Given the description of an element on the screen output the (x, y) to click on. 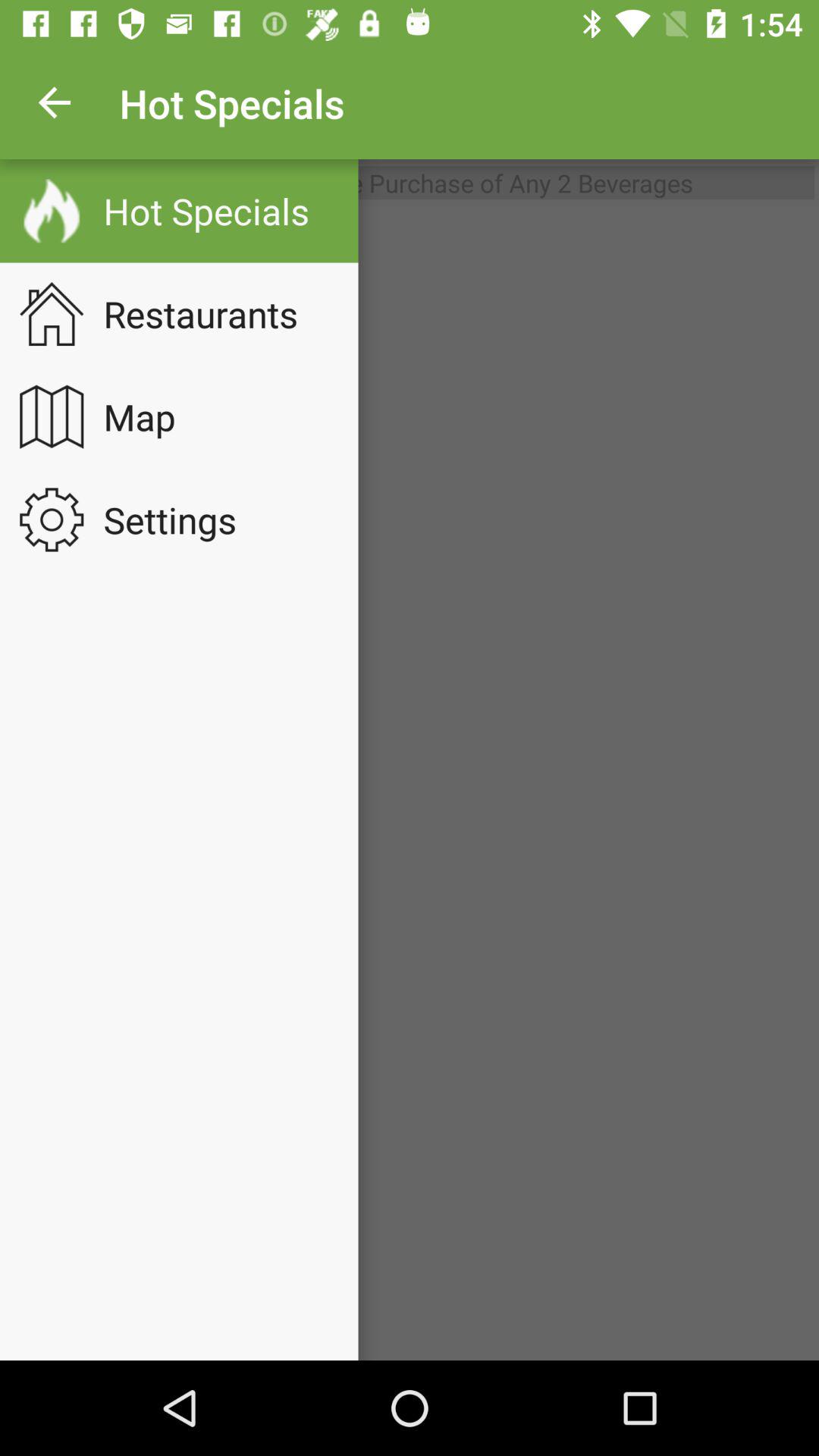
choose icon at the center (409, 783)
